Given the description of an element on the screen output the (x, y) to click on. 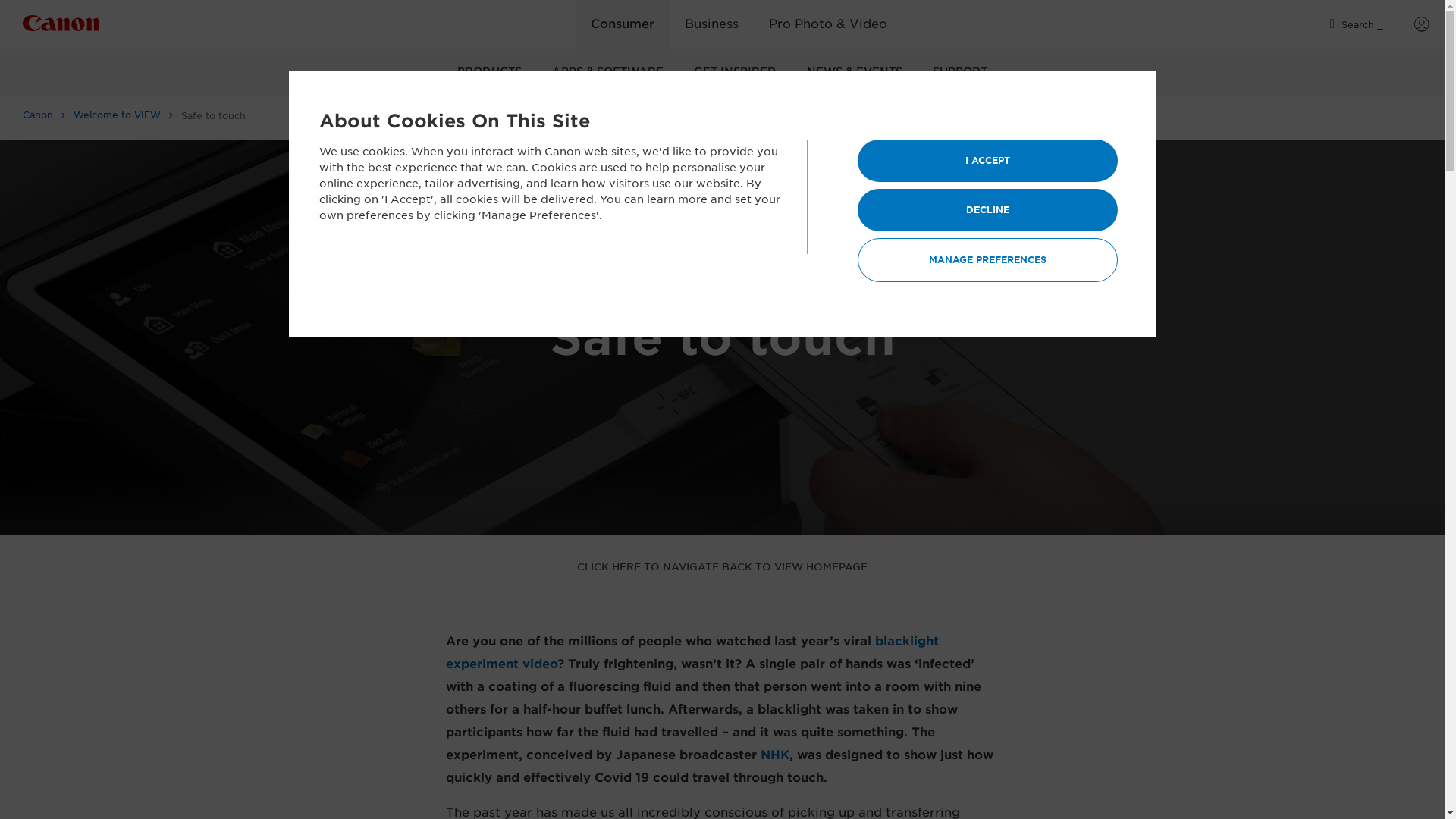
My Canon (1411, 23)
PRODUCTS (489, 72)
Business (711, 24)
Canon Logo, back to home page (89, 25)
Consumer (622, 24)
